Given the description of an element on the screen output the (x, y) to click on. 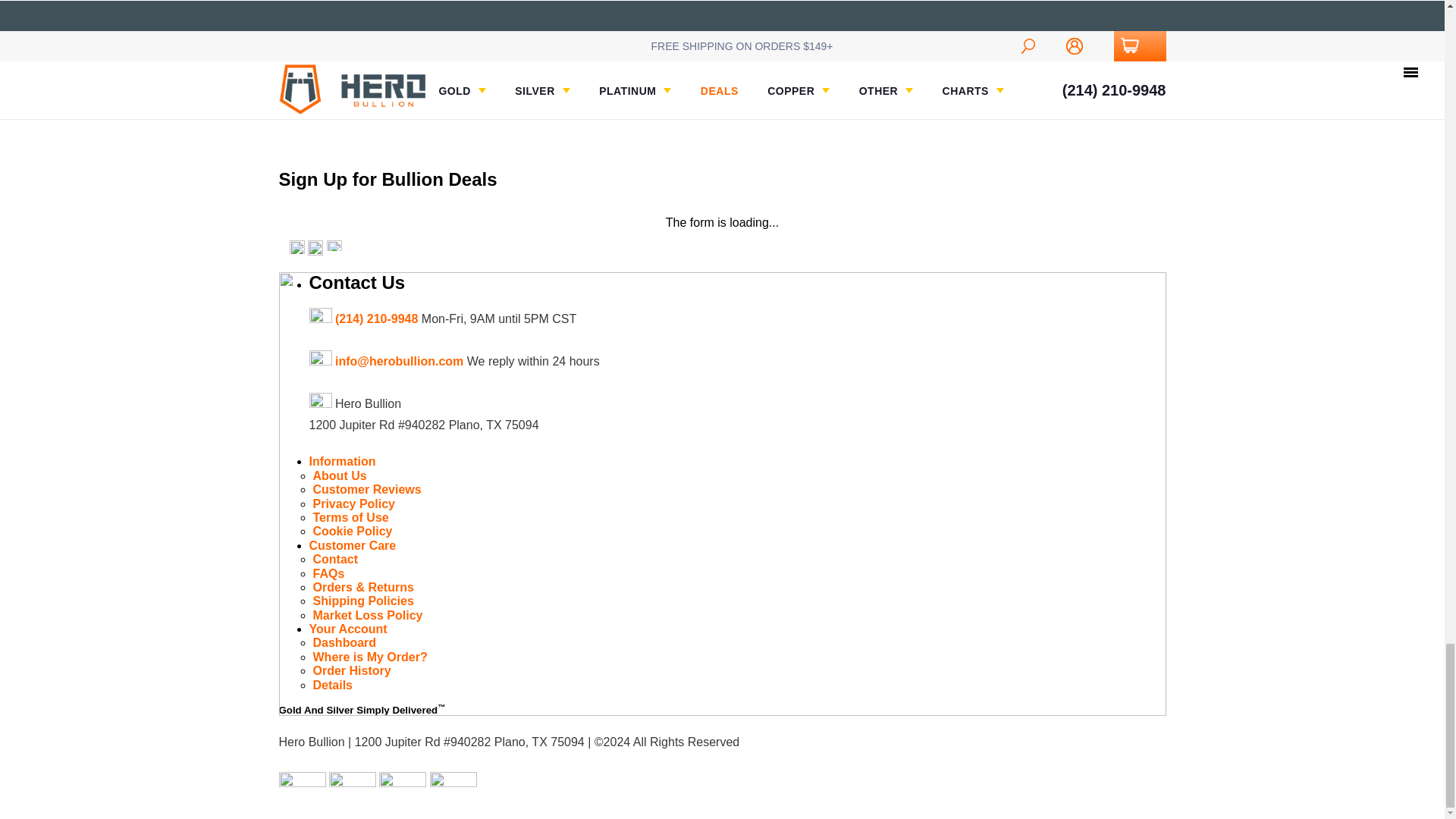
1 (1051, 40)
1 (870, 40)
1 (509, 26)
1 (689, 40)
